Given the description of an element on the screen output the (x, y) to click on. 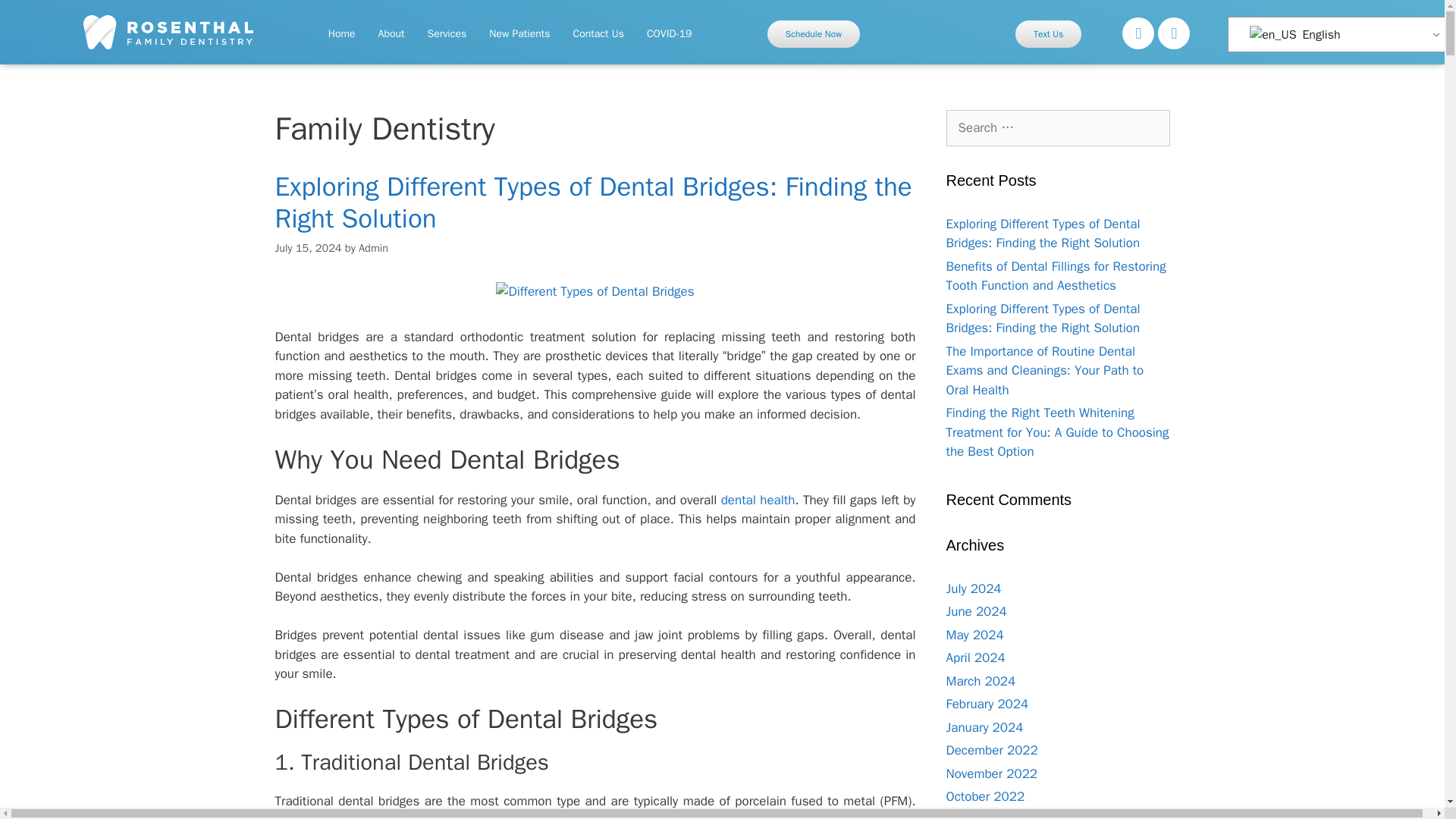
English (1339, 33)
English (1272, 34)
